Given the description of an element on the screen output the (x, y) to click on. 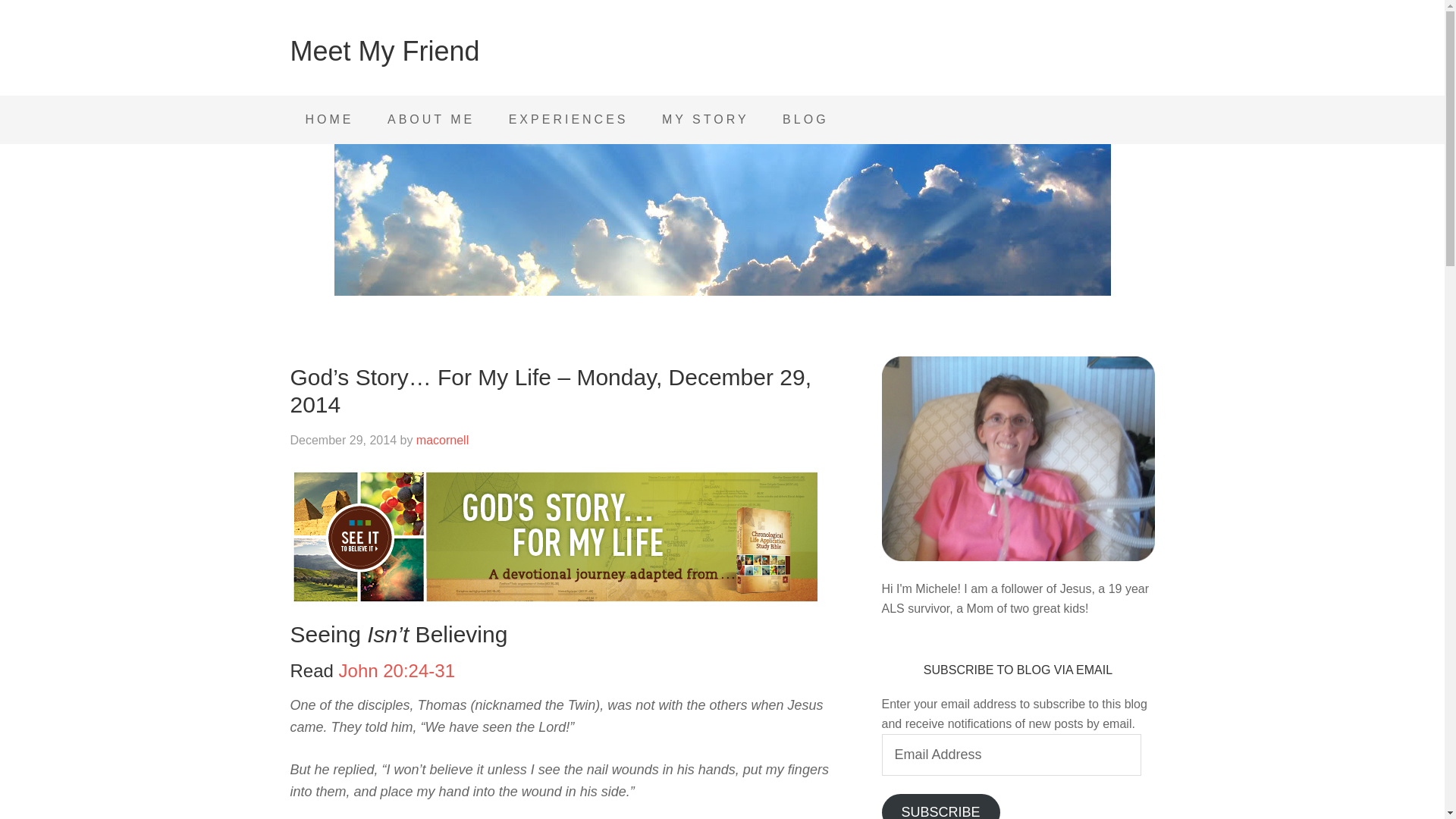
Meet My Friend (384, 51)
BLOG (805, 119)
EXPERIENCES (568, 119)
SUBSCRIBE (939, 806)
MY STORY (705, 119)
HOME (328, 119)
ABOUT ME (430, 119)
macornell (442, 440)
John 20:24-31 (396, 670)
